Given the description of an element on the screen output the (x, y) to click on. 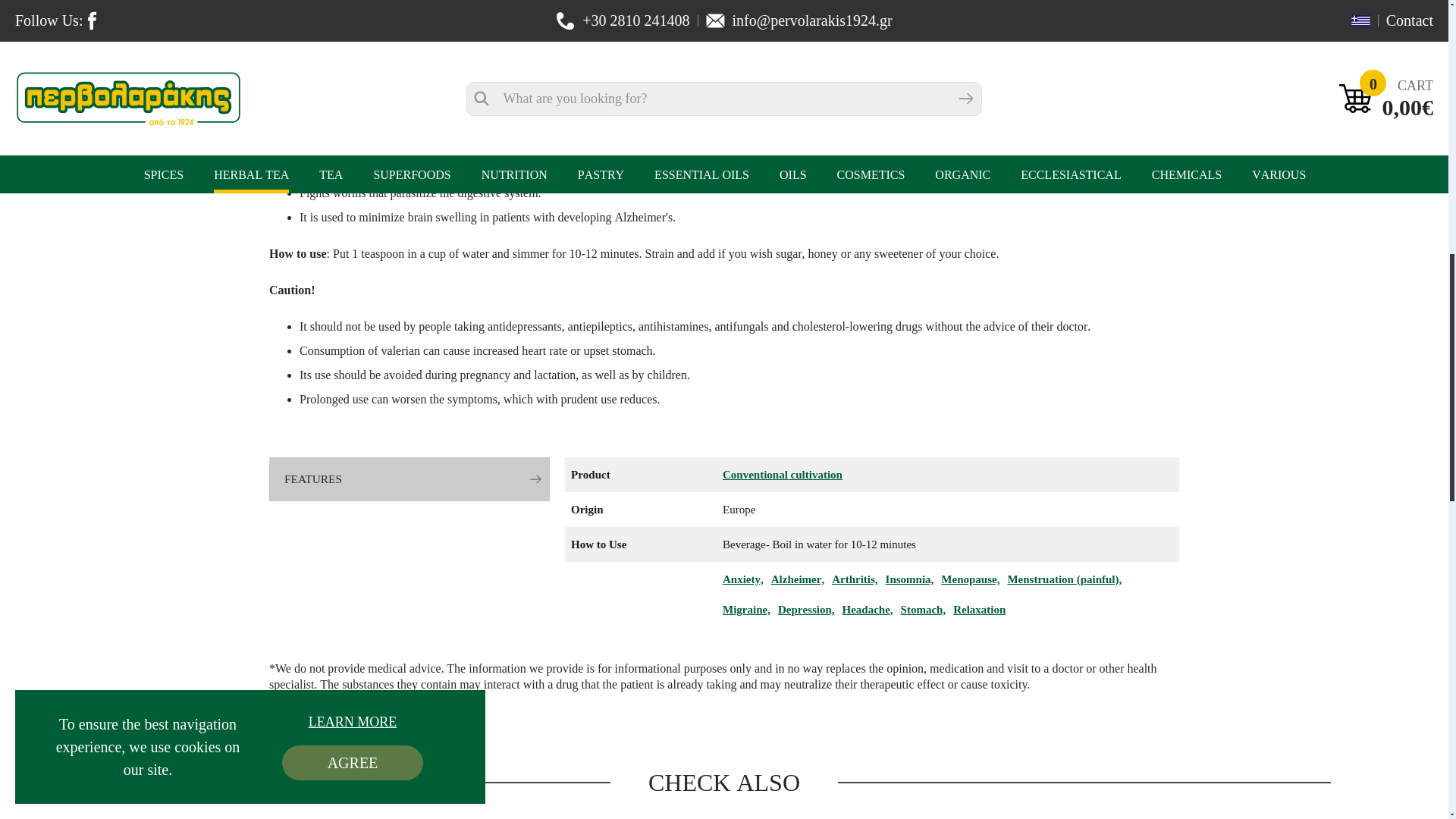
Conventional cultivation (782, 474)
Anxiety, (742, 579)
FEATURES (409, 479)
